Given the description of an element on the screen output the (x, y) to click on. 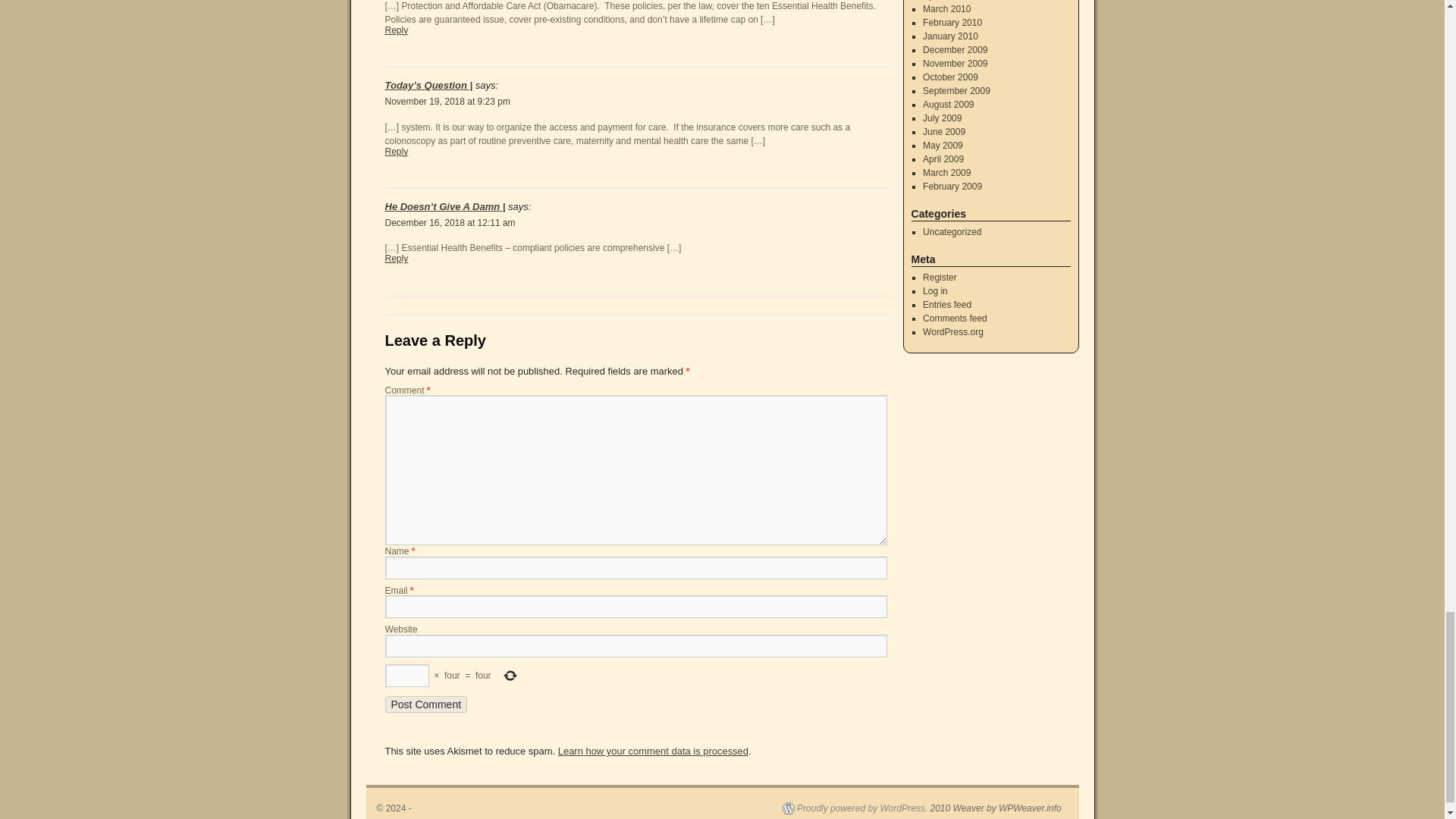
Semantic Personal Publishing Platform (855, 808)
Post Comment (426, 704)
Reply (397, 30)
November 19, 2018 at 9:23 pm (448, 101)
